Given the description of an element on the screen output the (x, y) to click on. 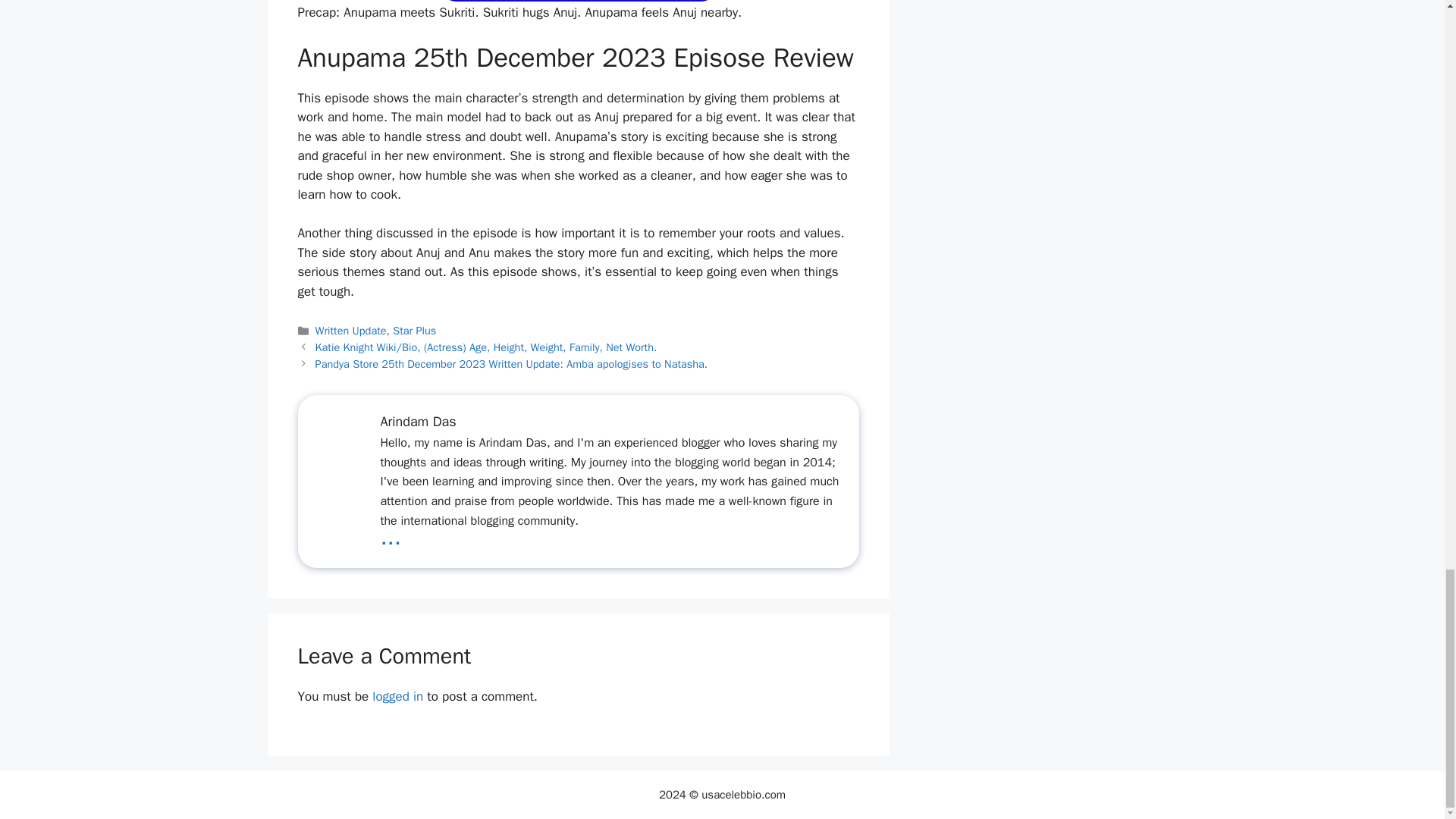
Written Update (578, 1)
logged in (397, 696)
Written Update (351, 330)
Star Plus (414, 330)
